Given the description of an element on the screen output the (x, y) to click on. 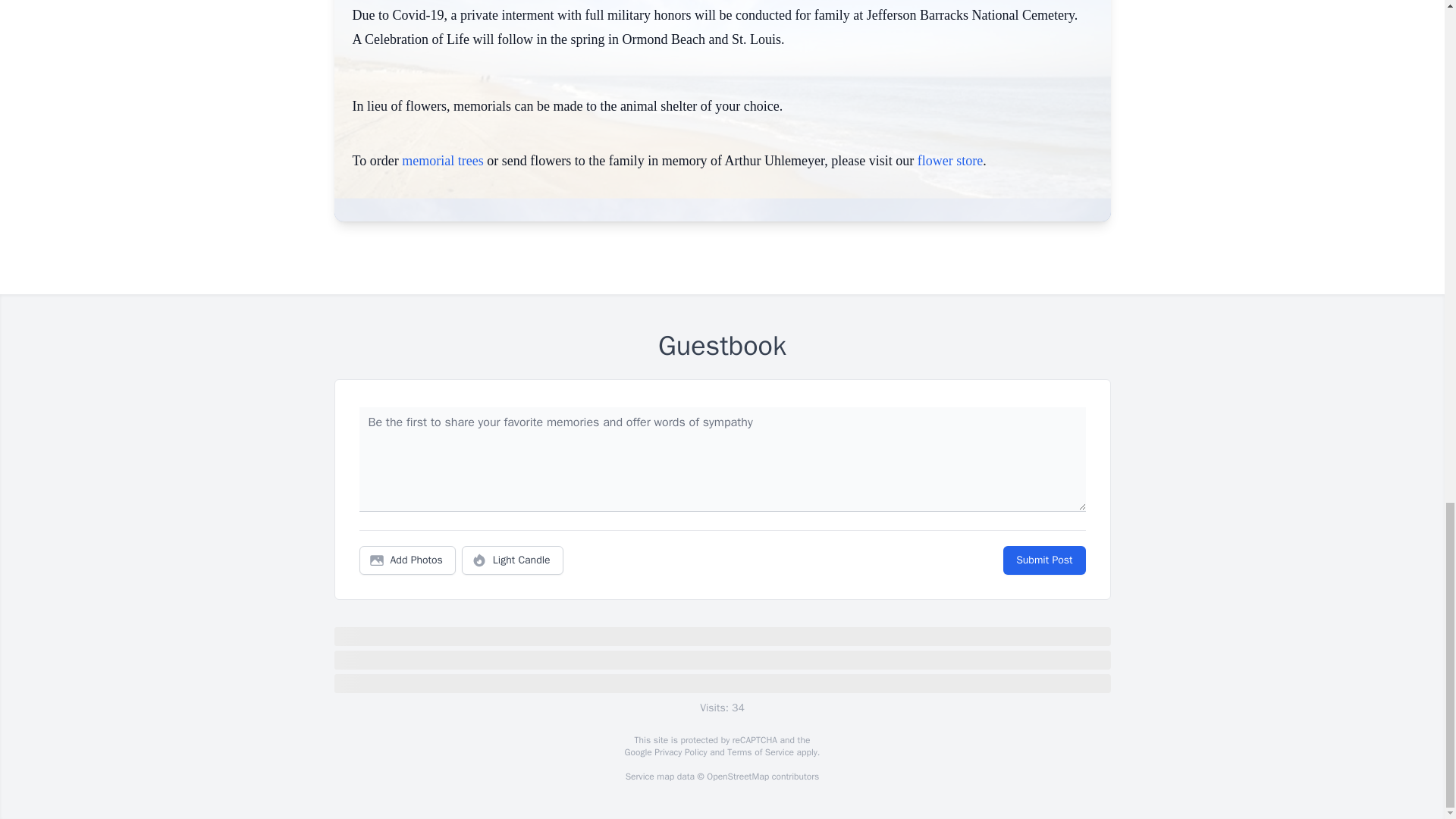
Light Candle (512, 560)
Terms of Service (759, 752)
Add Photos (407, 560)
Submit Post (1043, 560)
flower store (949, 160)
OpenStreetMap (737, 776)
memorial trees (442, 160)
Privacy Policy (679, 752)
